Given the description of an element on the screen output the (x, y) to click on. 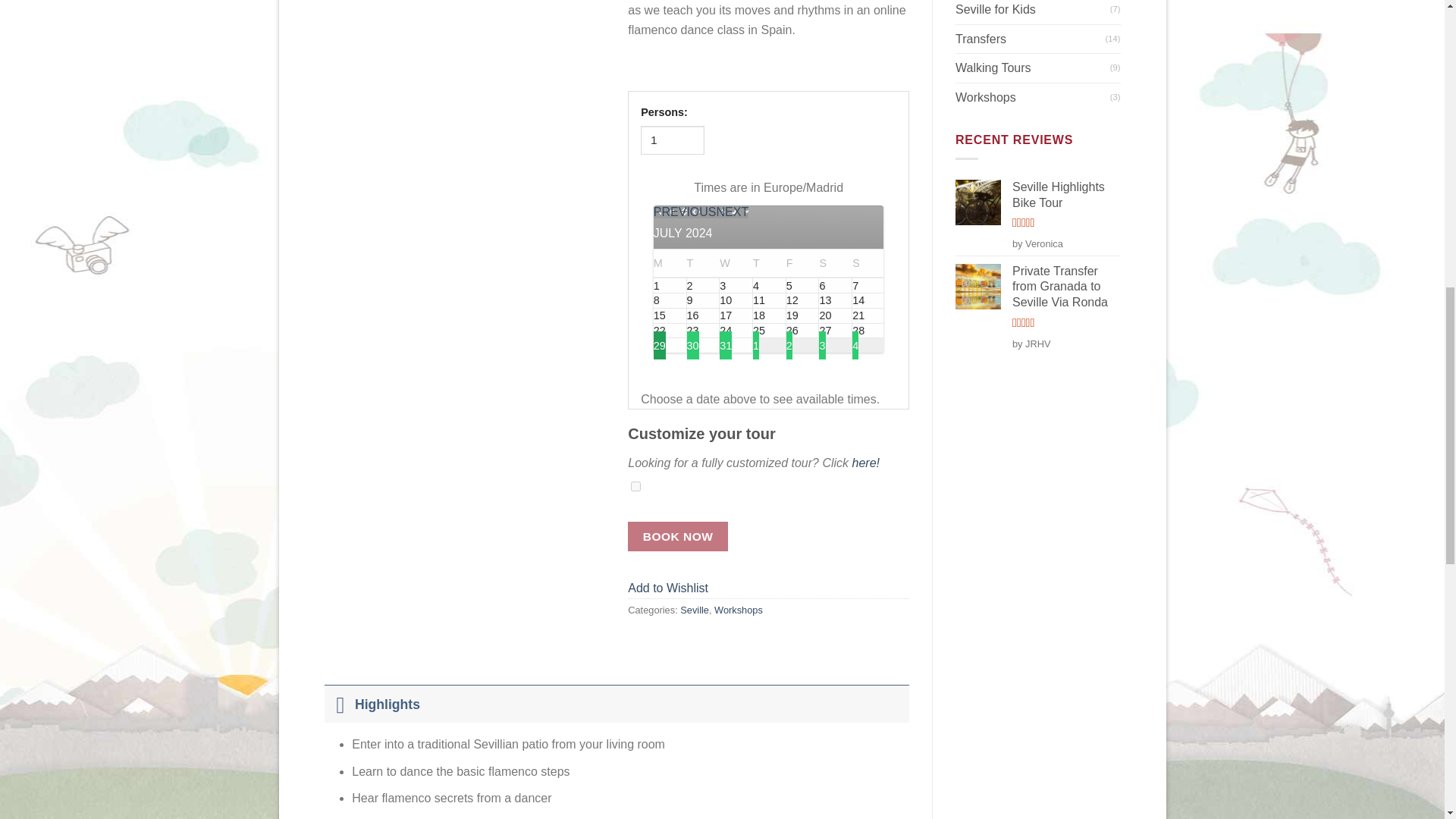
1 (672, 140)
Previous (684, 211)
Next (732, 211)
